Given the description of an element on the screen output the (x, y) to click on. 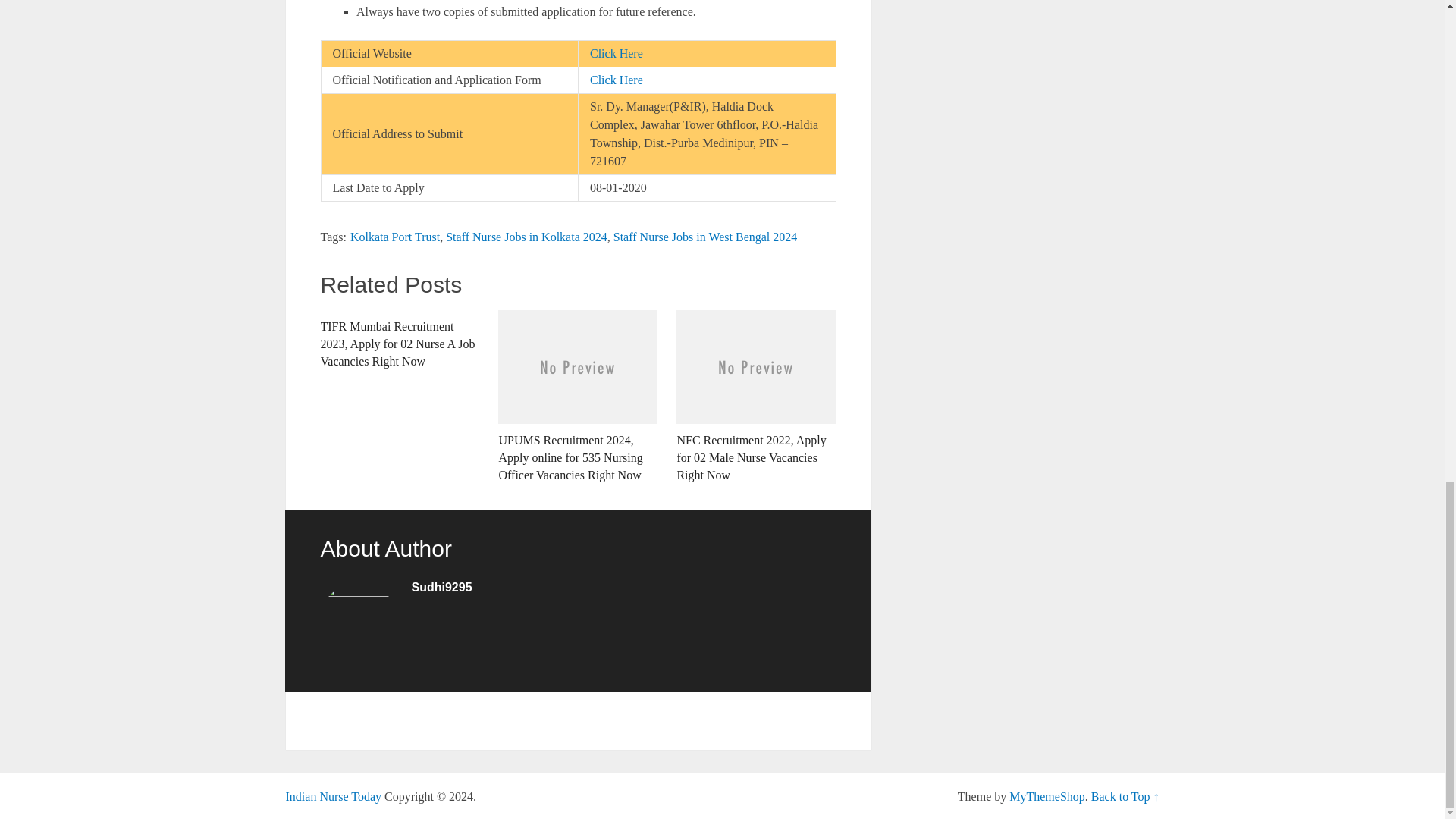
Staff Nurse Jobs in Kolkata 2024 (526, 236)
Kolkata Port Trust (394, 236)
Click Here (616, 79)
Staff Nurse Jobs in West Bengal 2024 (704, 236)
Indian Nurse Today (333, 796)
MyThemeShop (1046, 796)
Click Here (616, 52)
